Given the description of an element on the screen output the (x, y) to click on. 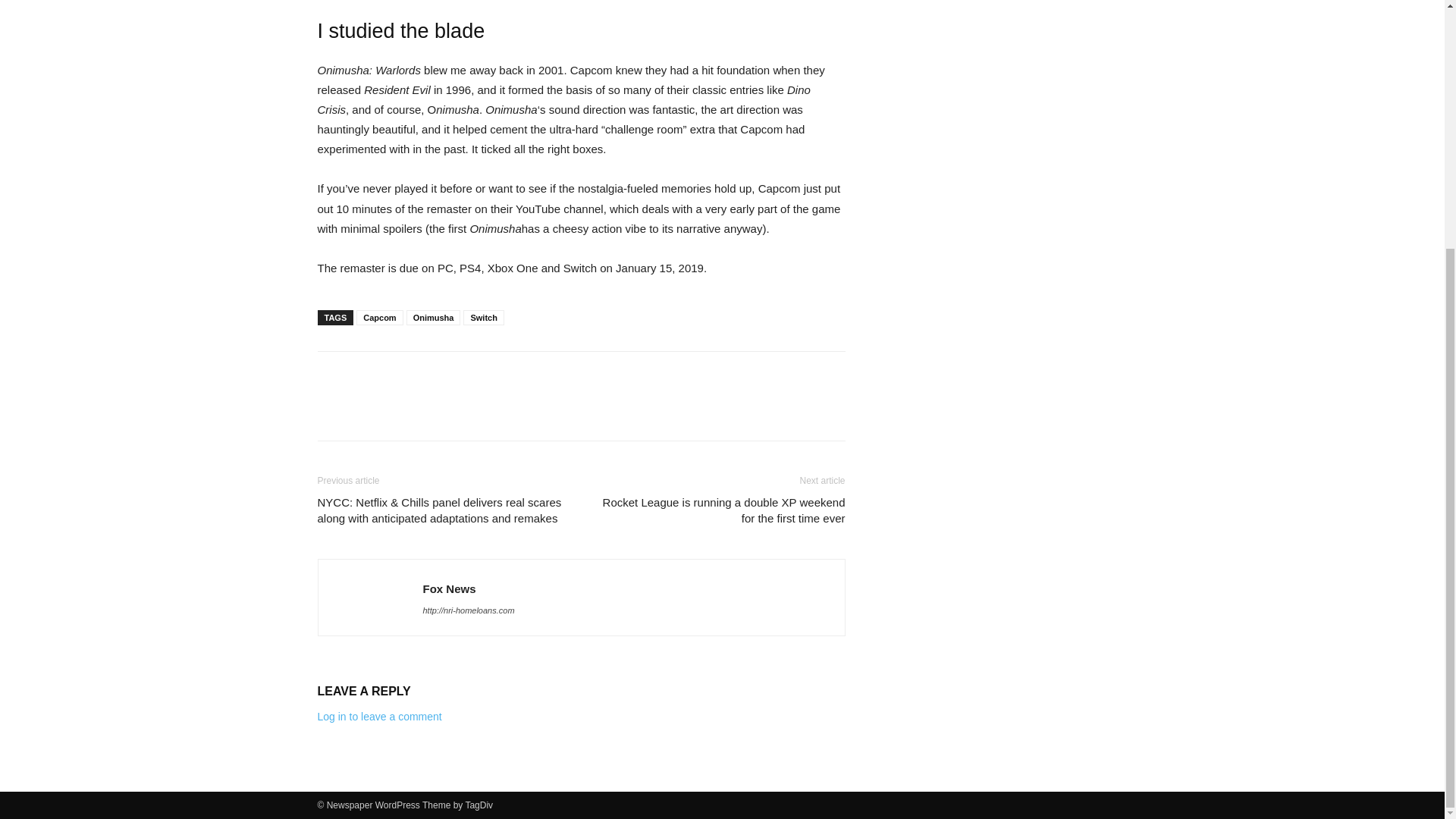
Onimusha (433, 317)
Capcom (379, 317)
bottomFacebookLike (430, 375)
Switch (483, 317)
Fox News (449, 588)
Log in to leave a comment (379, 716)
